Given the description of an element on the screen output the (x, y) to click on. 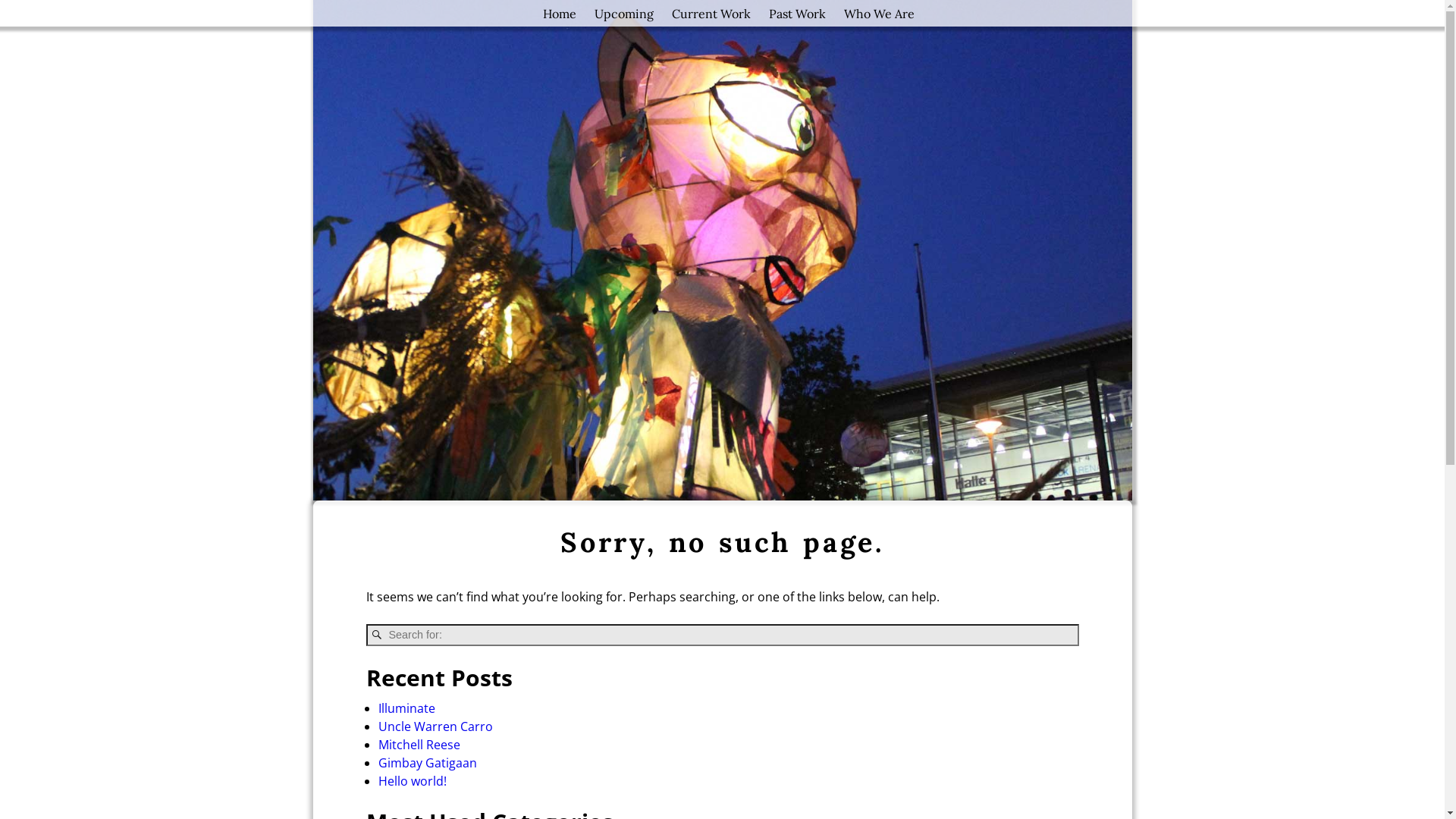
Current Work Element type: text (710, 13)
Hello world! Element type: text (411, 780)
Uncle Warren Carro Element type: text (434, 726)
Who We Are Element type: text (878, 13)
Gimbay Gatigaan Element type: text (426, 762)
Upcoming Element type: text (623, 13)
Past Work Element type: text (796, 13)
Illuminate Element type: text (405, 707)
Home Element type: text (559, 13)
Mitchell Reese Element type: text (418, 744)
